Given the description of an element on the screen output the (x, y) to click on. 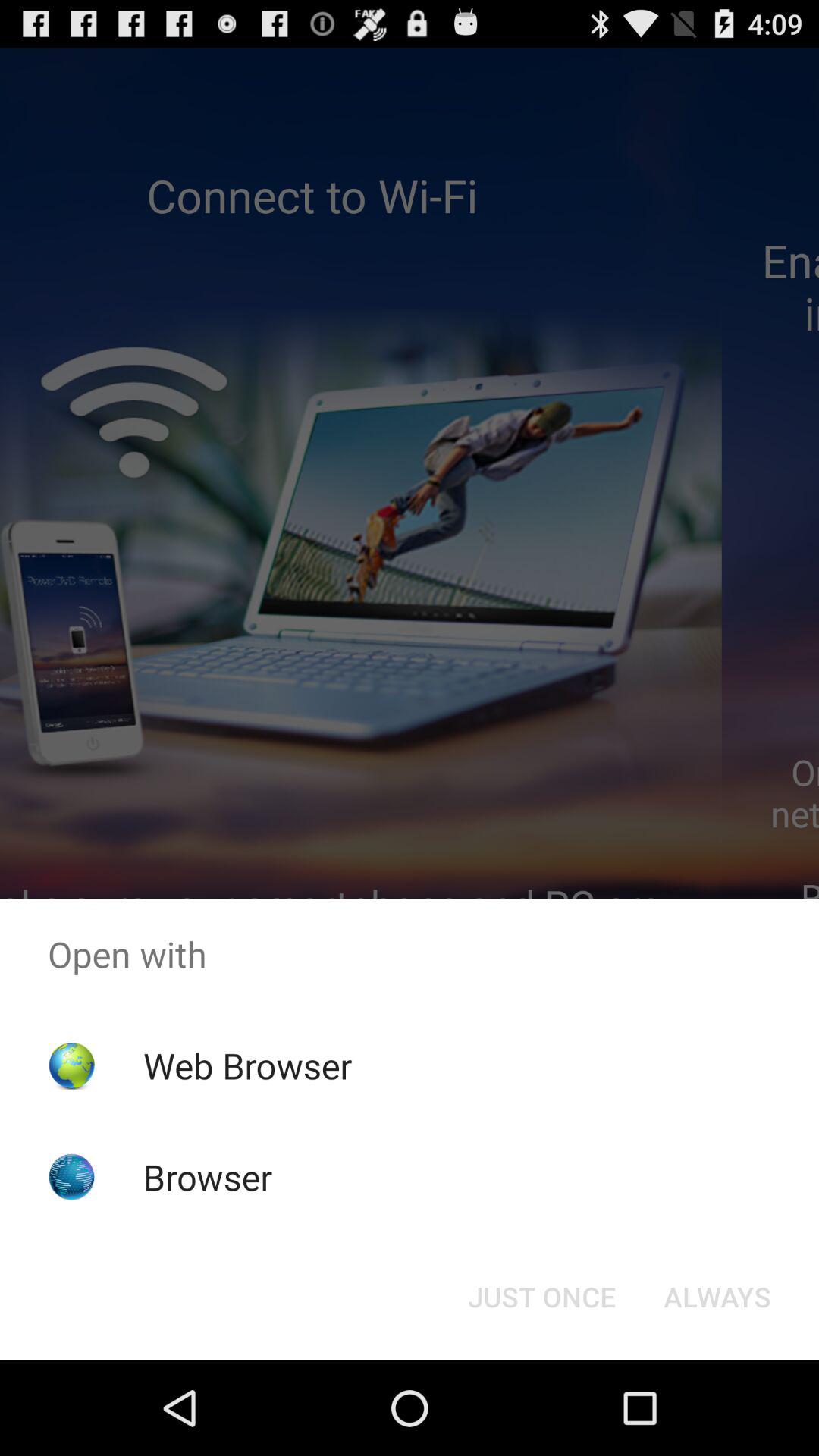
press item to the left of the always item (541, 1296)
